Given the description of an element on the screen output the (x, y) to click on. 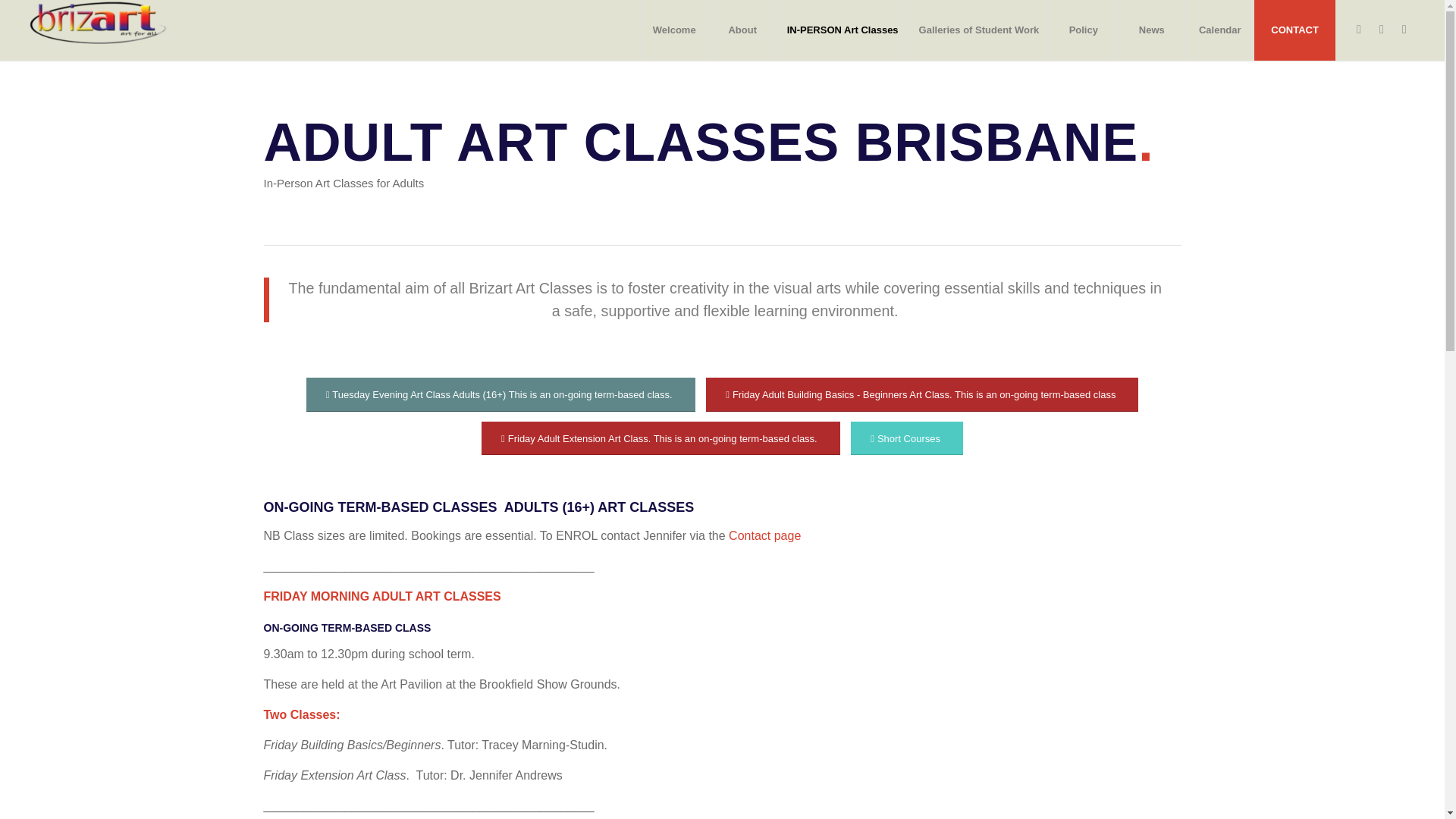
Welcome (673, 30)
Mail (1404, 29)
Facebook (1359, 29)
Galleries of Student Work (978, 30)
Instagram (1381, 29)
FRIDAY MORNING ADULT ART CLASSES (381, 595)
CONTACT (1294, 30)
News (1150, 30)
Contact page (764, 535)
Policy (1082, 30)
IN-PERSON Art Classes (842, 30)
About (741, 30)
Short Courses (906, 438)
